Given the description of an element on the screen output the (x, y) to click on. 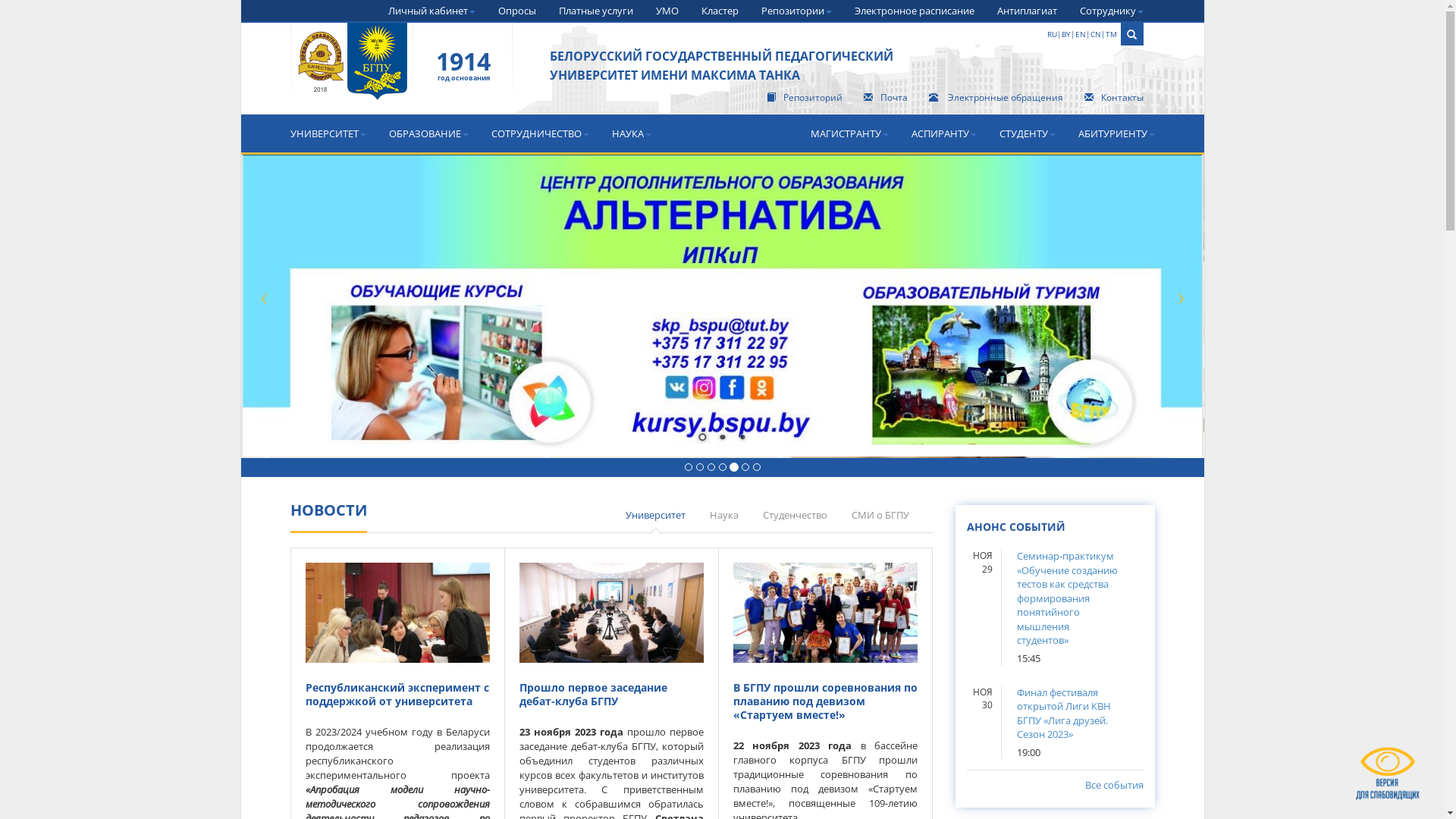
  Element type: text (351, 72)
CN Element type: text (1095, 33)
EN Element type: text (1080, 33)
TM Element type: text (1111, 33)
RU Element type: text (1051, 33)
BY Element type: text (1065, 33)
